Given the description of an element on the screen output the (x, y) to click on. 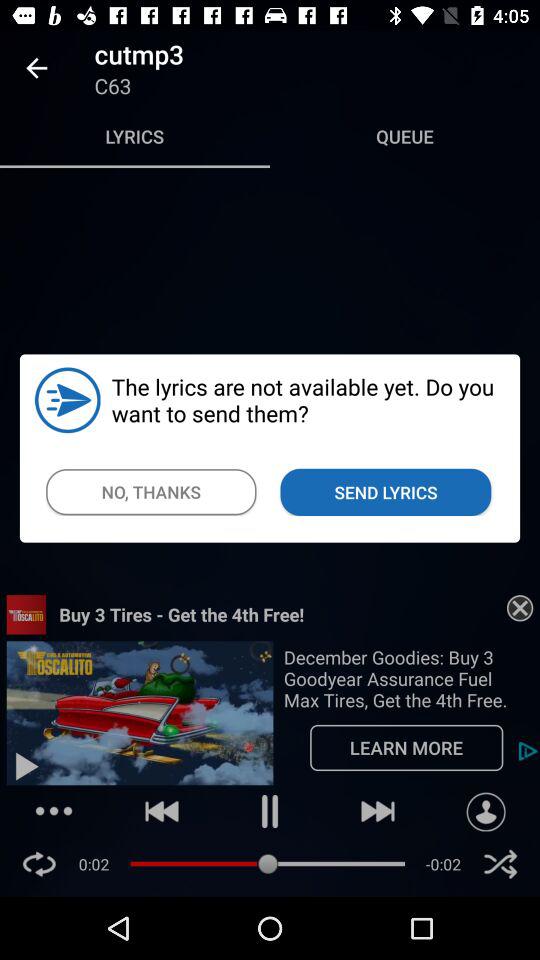
click the play back button on the web page (162, 811)
click the close button on the web page (519, 608)
click the profile icon  from the bottom right (486, 811)
click on the shuffle icon at the bottom right most corner of the page (500, 864)
